Given the description of an element on the screen output the (x, y) to click on. 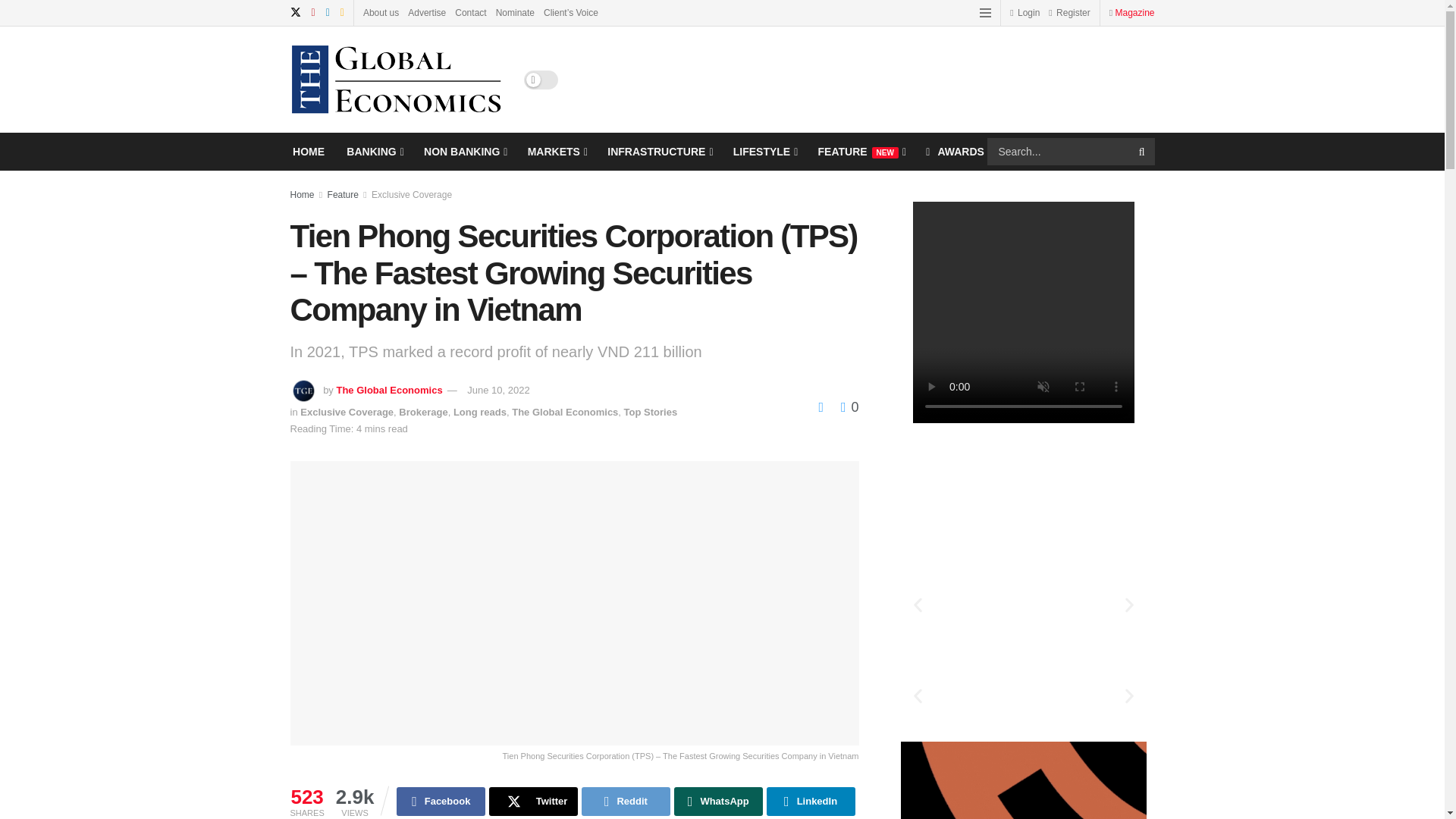
FEATURENEW (861, 151)
About us (380, 12)
Login (1024, 12)
Contact (470, 12)
Magazine (1134, 12)
Register (1068, 12)
INFRASTRUCTURE (658, 151)
Home (301, 194)
BANKING (373, 151)
LIFESTYLE (764, 151)
